Given the description of an element on the screen output the (x, y) to click on. 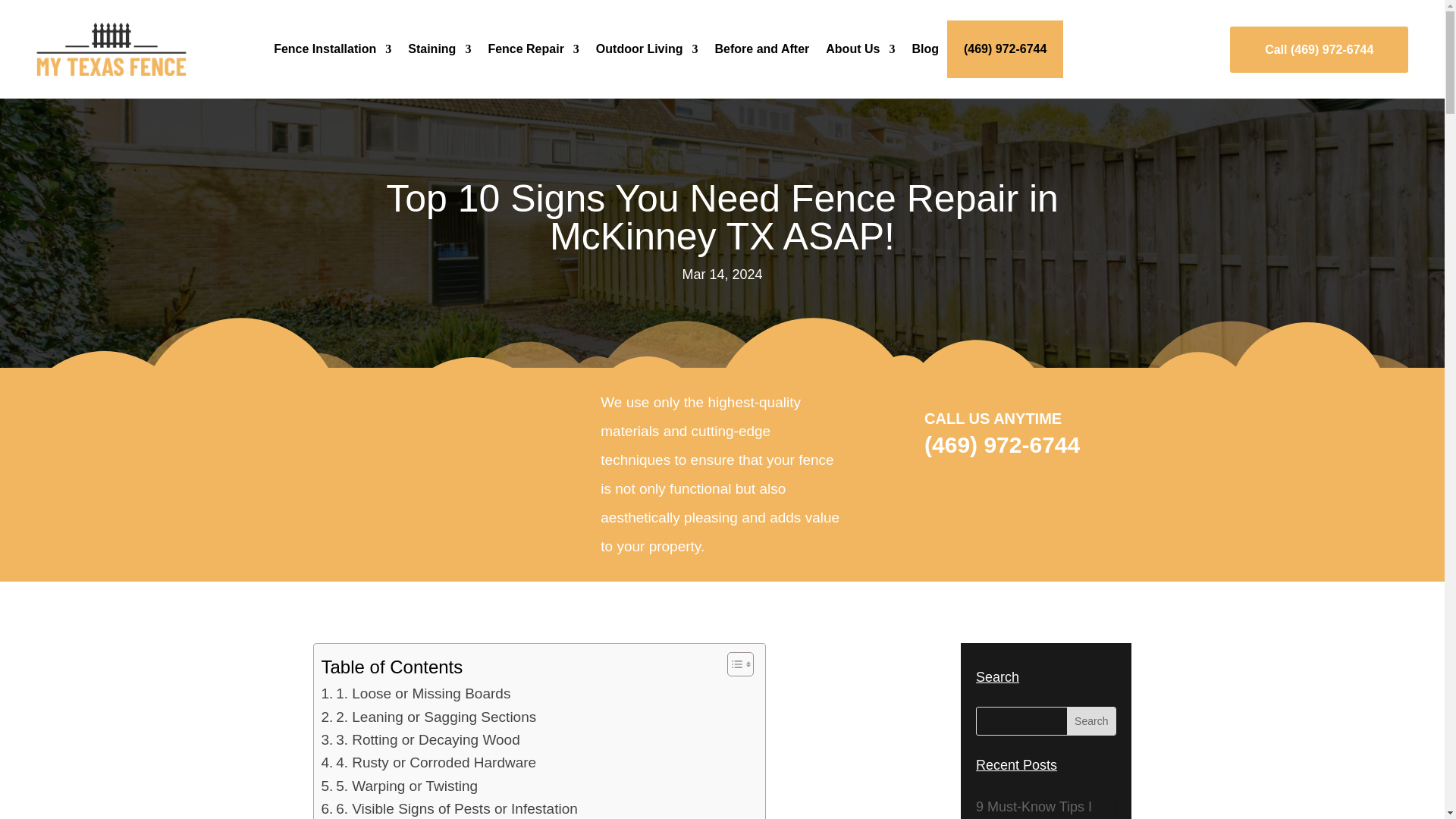
Search (1091, 720)
3. Rotting or Decaying Wood (420, 739)
Fence Repair (532, 48)
1. Loose or Missing Boards (416, 693)
Staining (438, 48)
2. Leaning or Sagging Sections (429, 716)
6. Visible Signs of Pests or Infestation (449, 808)
4. Rusty or Corroded Hardware (429, 762)
Fence Installation (332, 48)
Search (1091, 720)
